Given the description of an element on the screen output the (x, y) to click on. 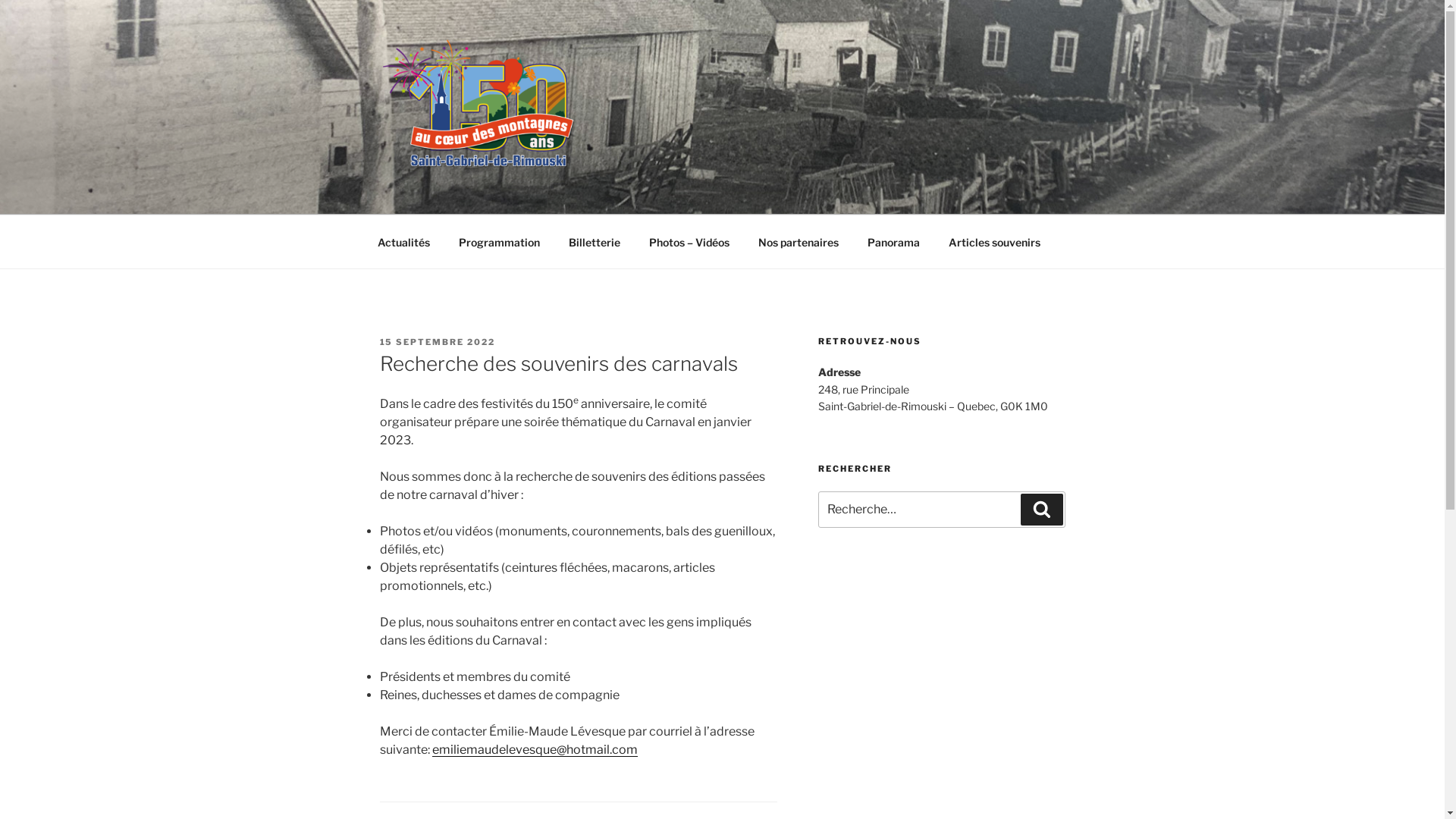
Nos partenaires Element type: text (797, 241)
Panorama Element type: text (892, 241)
15 SEPTEMBRE 2022 Element type: text (437, 341)
150E ANNIVERSAIRE DE SAINT-GABRIEL-DE-RIMOUSKI Element type: text (731, 211)
Rechercher Element type: text (1041, 509)
Articles souvenirs Element type: text (994, 241)
Billetterie Element type: text (594, 241)
emiliemaudelevesque@hotmail.com Element type: text (534, 749)
Programmation Element type: text (499, 241)
